Given the description of an element on the screen output the (x, y) to click on. 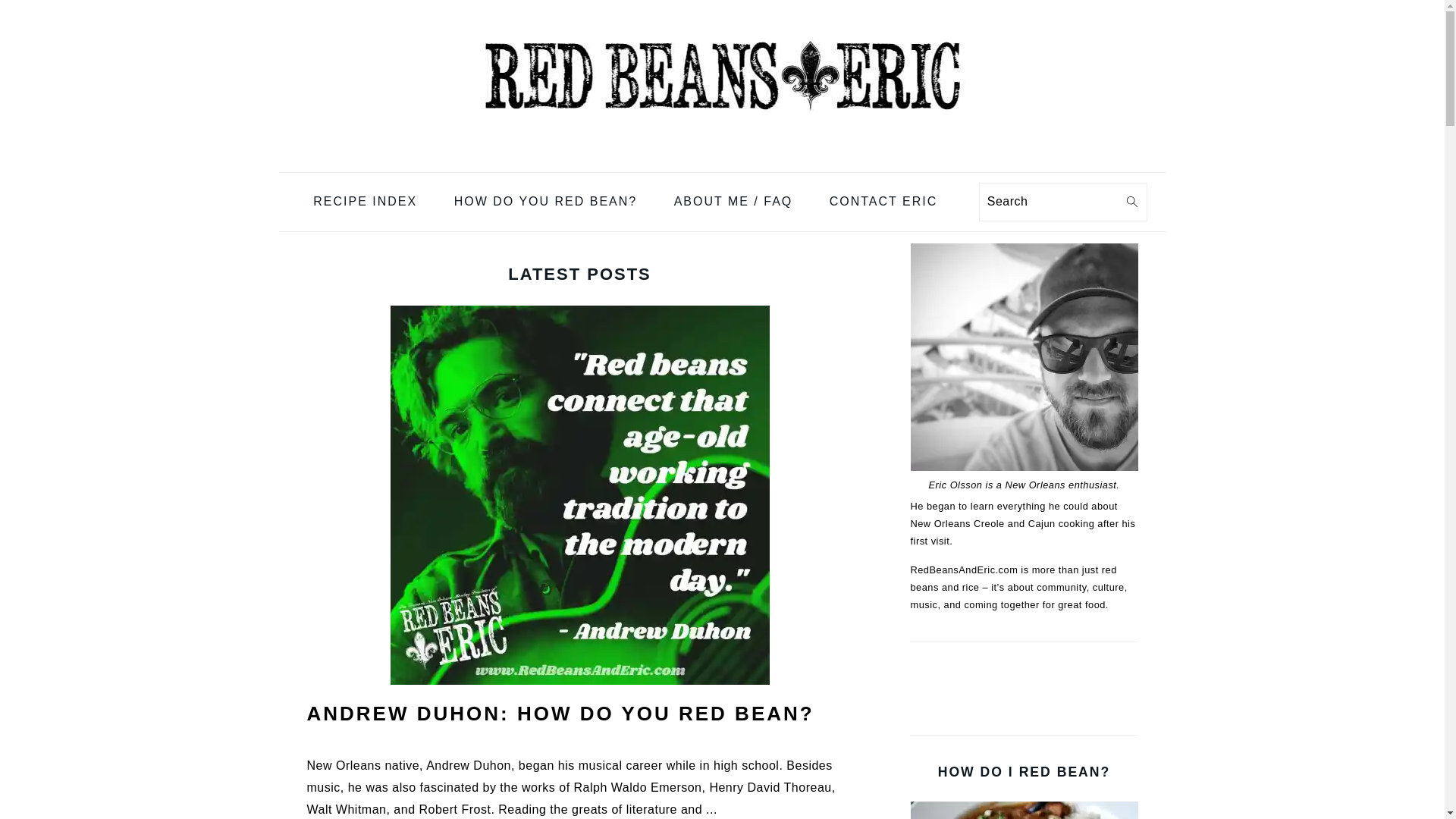
Red Beans and Eric (721, 75)
ANDREW DUHON: HOW DO YOU RED BEAN? (559, 712)
HOW DO YOU RED BEAN? (545, 202)
CONTACT ERIC (883, 202)
RECIPE INDEX (364, 202)
Red Beans and Eric (721, 160)
